Given the description of an element on the screen output the (x, y) to click on. 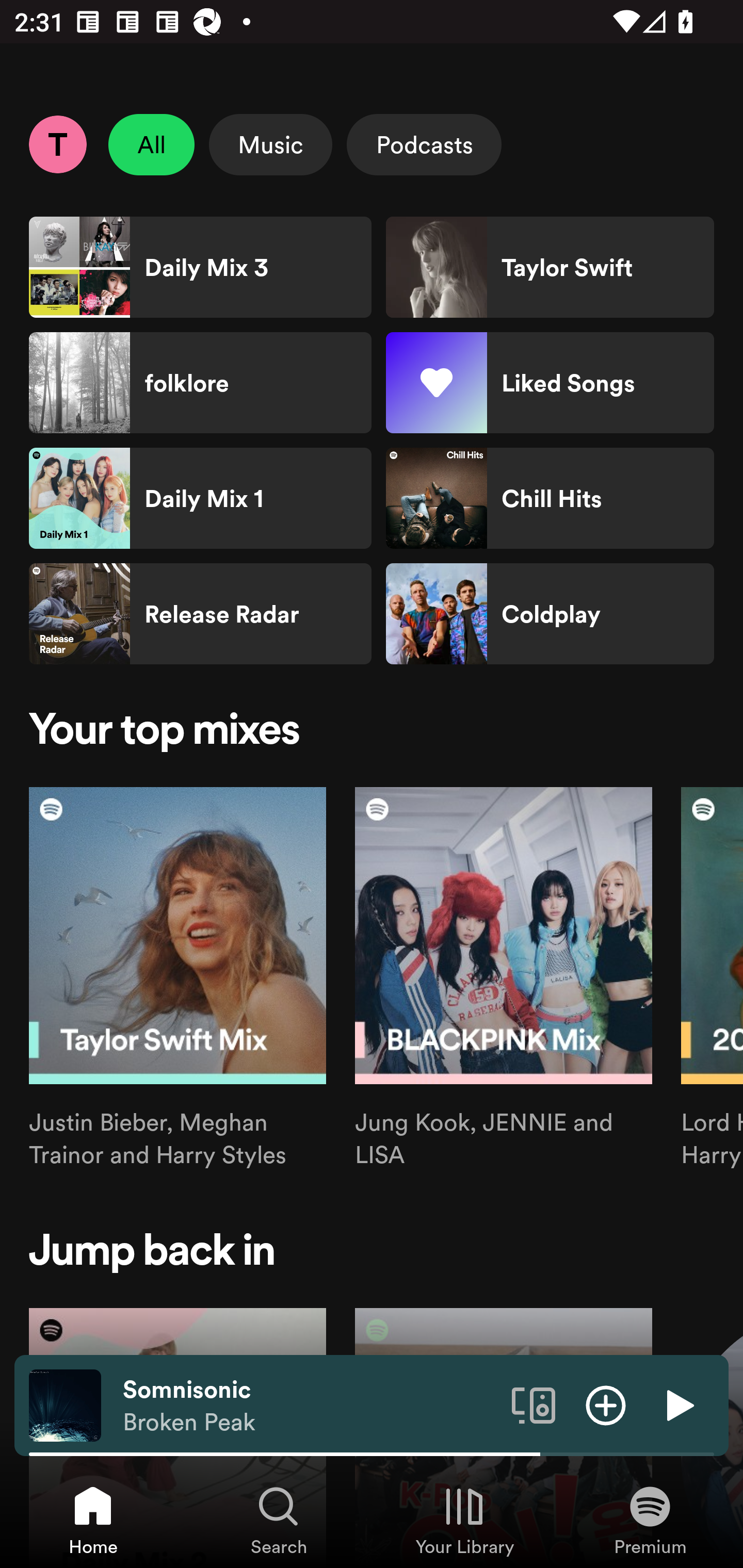
Profile (57, 144)
All Unselect All (151, 144)
Music Select Music (270, 144)
Podcasts Select Podcasts (423, 144)
Daily Mix 3 Shortcut Daily Mix 3 (199, 267)
Taylor Swift Shortcut Taylor Swift (549, 267)
folklore Shortcut folklore (199, 382)
Liked Songs Shortcut Liked Songs (549, 382)
Daily Mix 1 Shortcut Daily Mix 1 (199, 498)
Chill Hits Shortcut Chill Hits (549, 498)
Release Radar Shortcut Release Radar (199, 613)
Coldplay Shortcut Coldplay (549, 613)
Somnisonic Broken Peak (309, 1405)
The cover art of the currently playing track (64, 1404)
Connect to a device. Opens the devices menu (533, 1404)
Add item (605, 1404)
Play (677, 1404)
Home, Tab 1 of 4 Home Home (92, 1519)
Search, Tab 2 of 4 Search Search (278, 1519)
Your Library, Tab 3 of 4 Your Library Your Library (464, 1519)
Premium, Tab 4 of 4 Premium Premium (650, 1519)
